Given the description of an element on the screen output the (x, y) to click on. 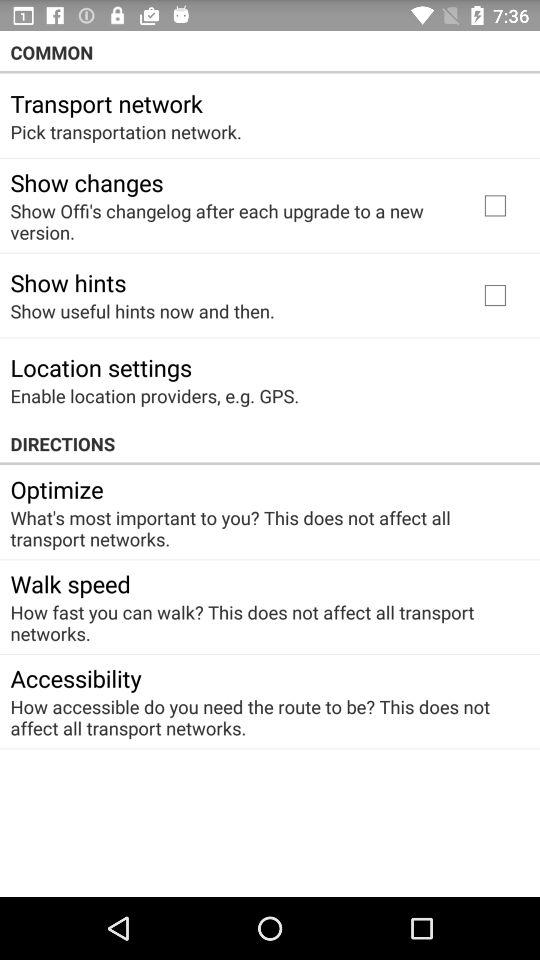
turn on the accessibility (75, 678)
